Given the description of an element on the screen output the (x, y) to click on. 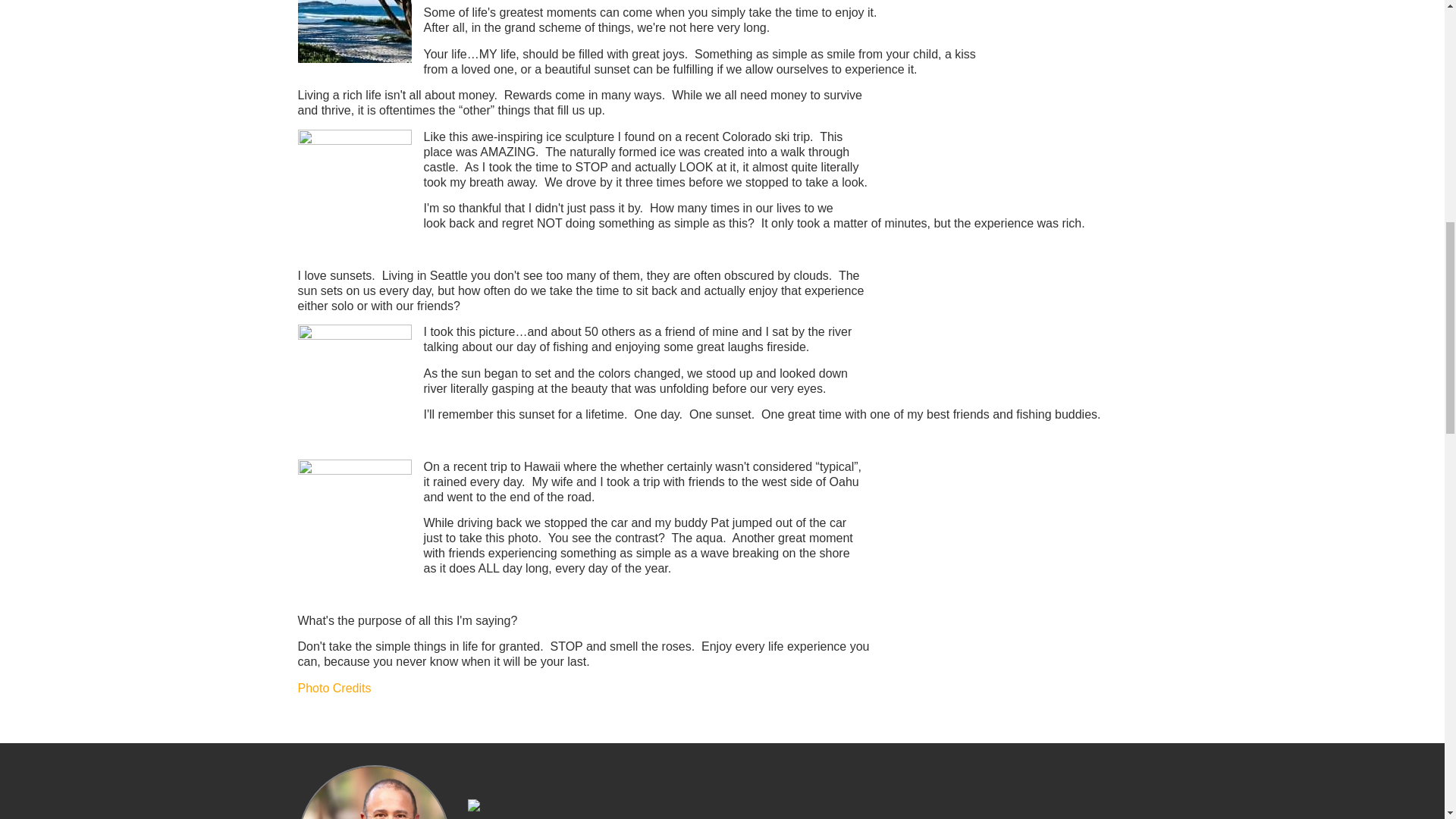
Photo Credits (334, 687)
carmelbeach (353, 31)
icesculplture (353, 186)
Photo Credits (334, 687)
riversunset (353, 381)
wavecontrast (353, 516)
